Given the description of an element on the screen output the (x, y) to click on. 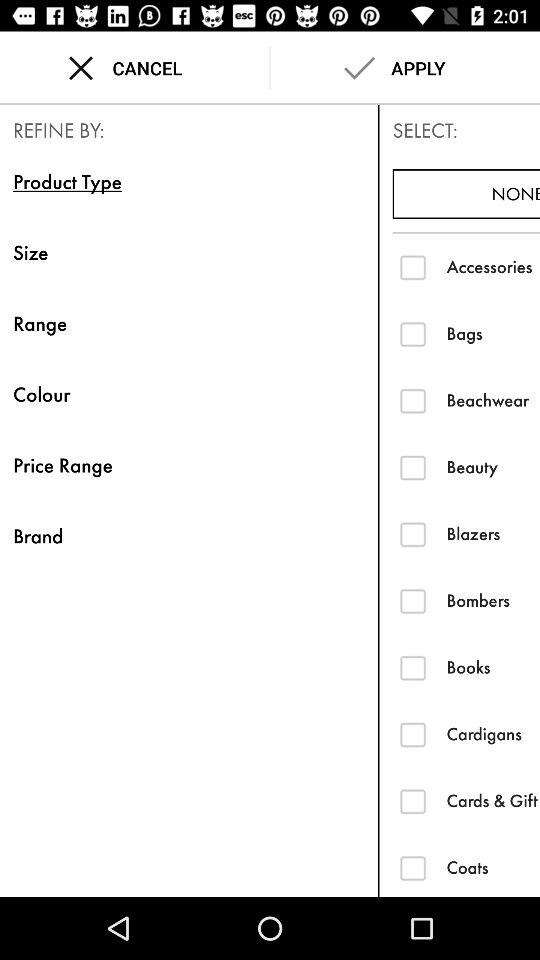
choose the coats item (493, 867)
